Given the description of an element on the screen output the (x, y) to click on. 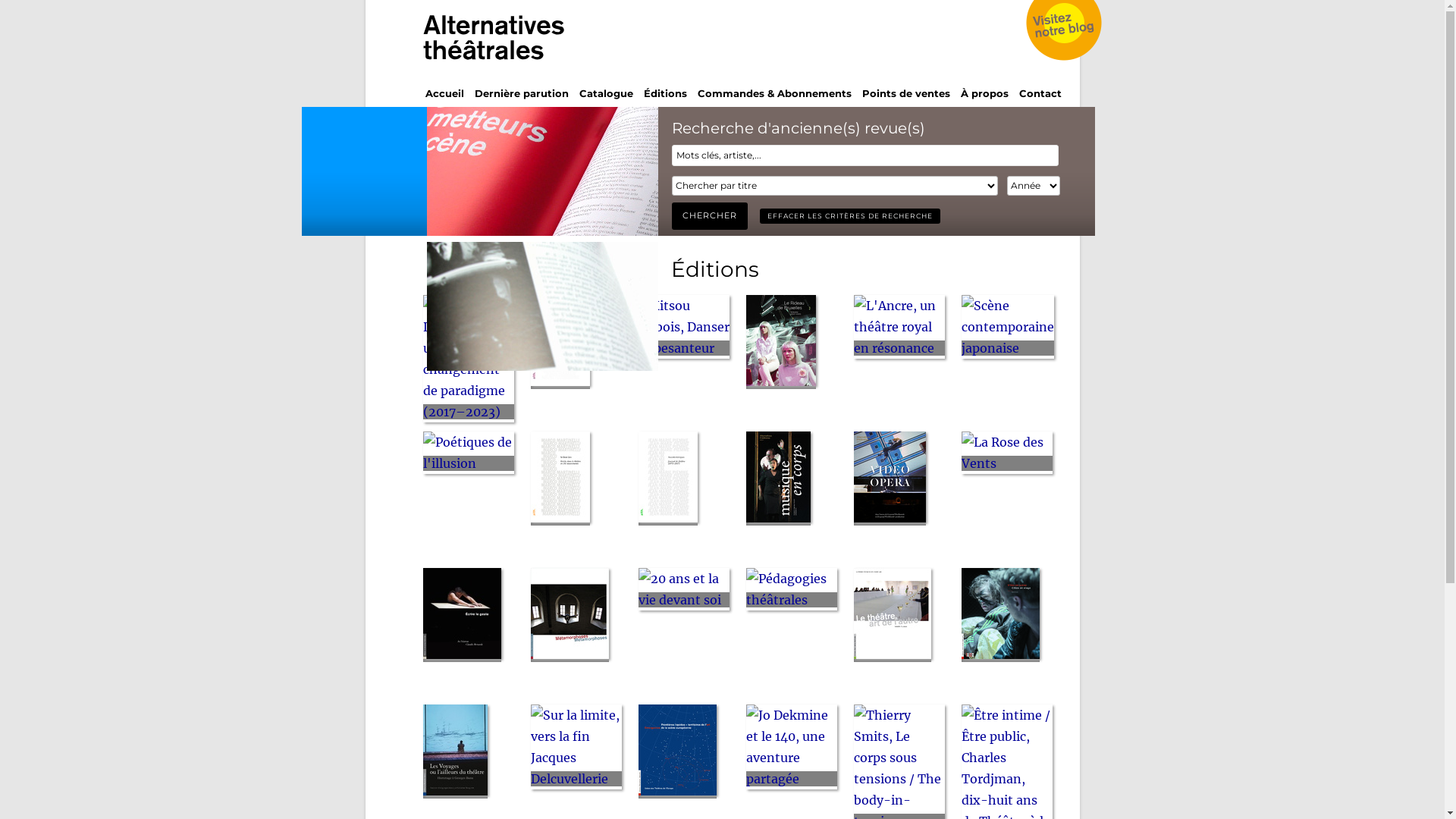
CHERCHER Element type: text (709, 215)
Contact Element type: text (1040, 93)
Points de ventes Element type: text (905, 93)
Catalogue Element type: text (606, 93)
Commandes & Abonnements Element type: text (774, 93)
Accueil Element type: text (443, 93)
